Given the description of an element on the screen output the (x, y) to click on. 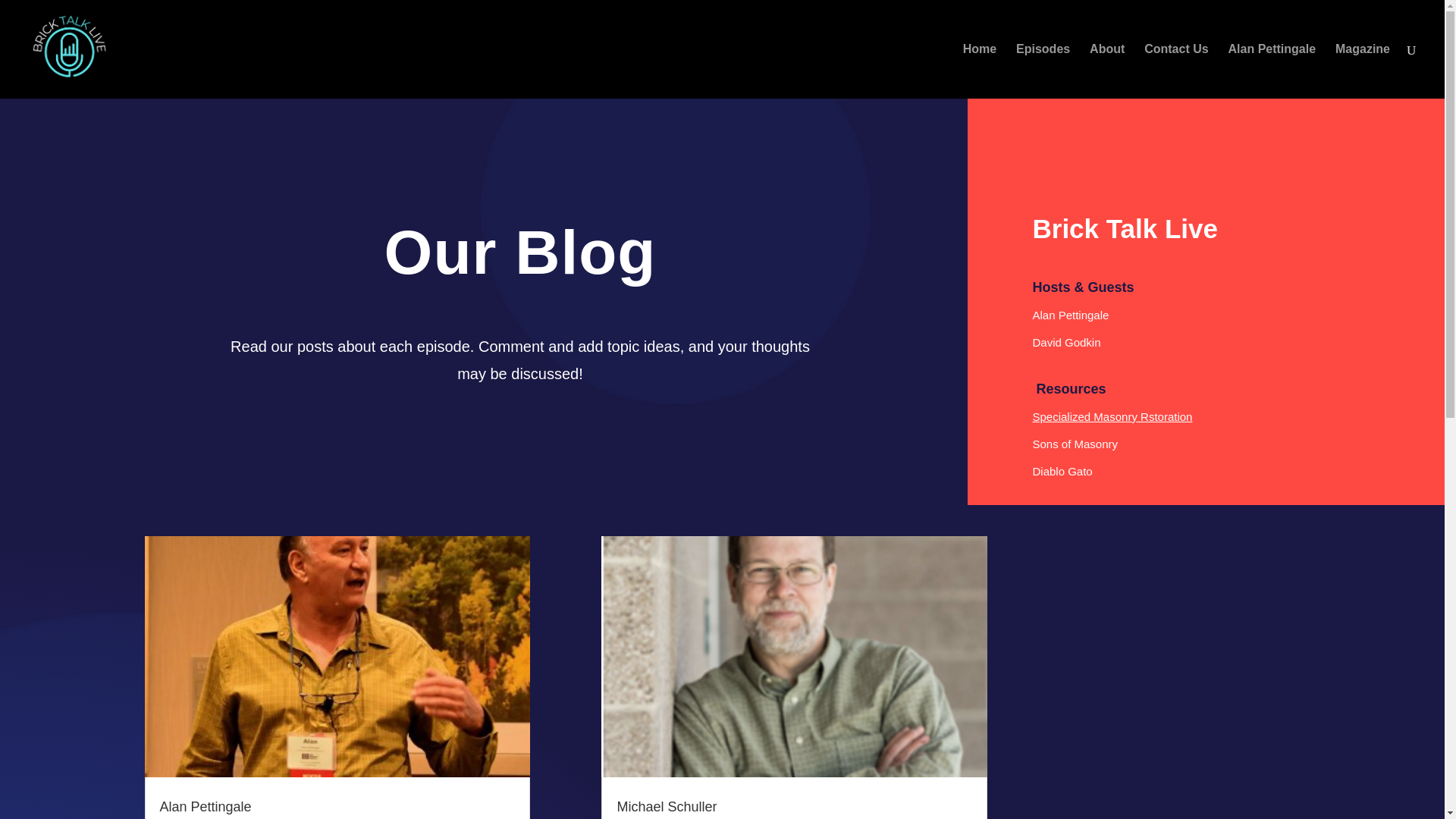
Specialized Masonry Rstoration (1112, 416)
Alan Pettingale (204, 806)
Contact Us (1176, 71)
Magazine (1362, 71)
Alan Pettingale (1272, 71)
Episodes (1043, 71)
Michael Schuller (665, 806)
